Given the description of an element on the screen output the (x, y) to click on. 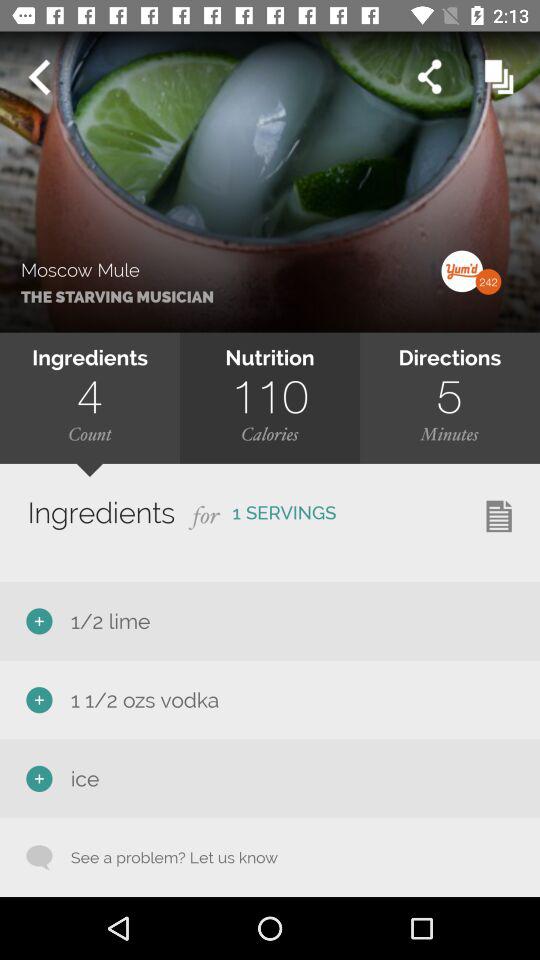
share this page (429, 76)
